Given the description of an element on the screen output the (x, y) to click on. 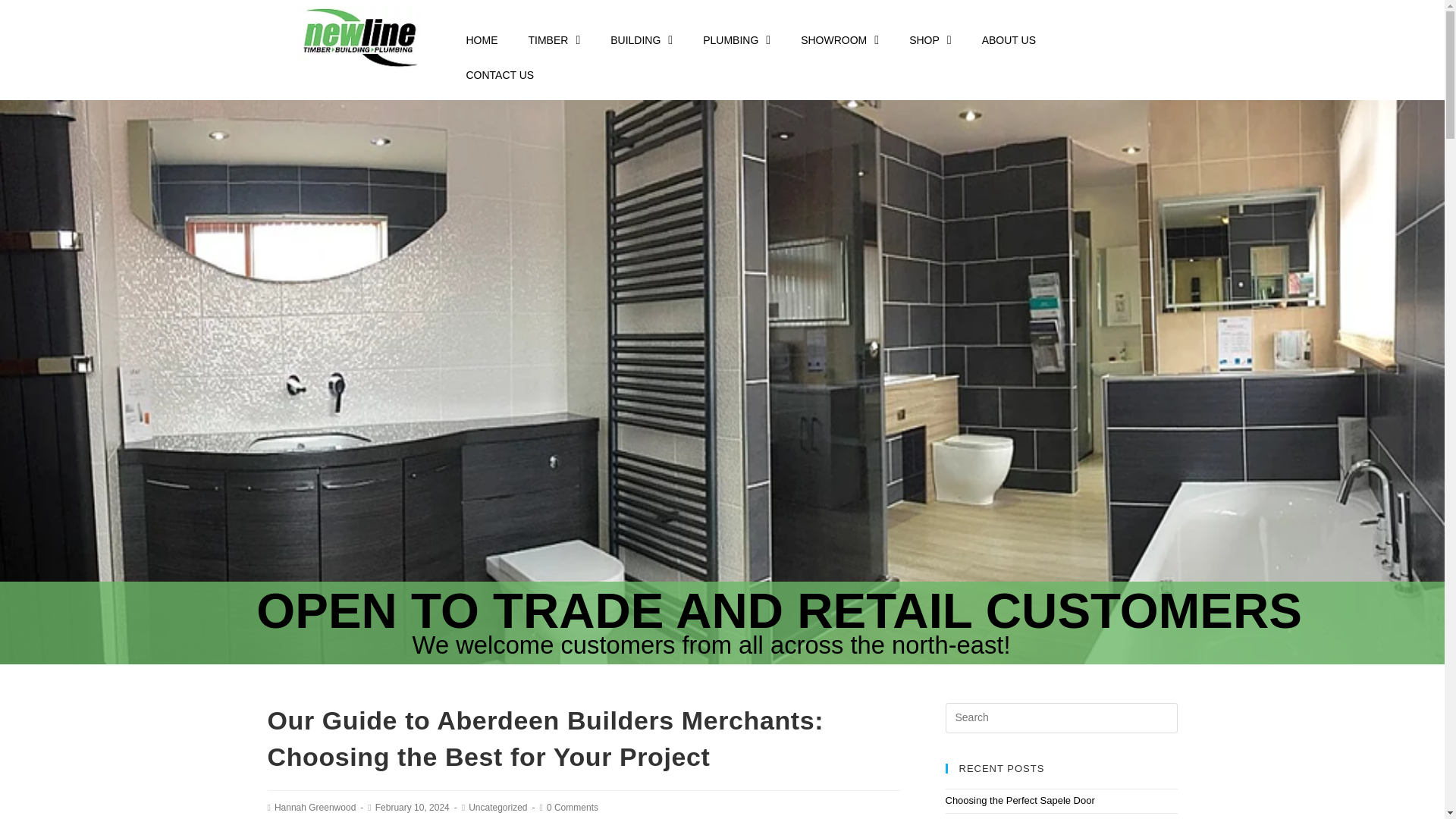
Posts by Hannah Greenwood (315, 807)
TIMBER (553, 39)
CONTACT US (498, 74)
ABOUT US (1008, 39)
SHOP (929, 39)
HOME (480, 39)
BUILDING (641, 39)
PLUMBING (736, 39)
SHOWROOM (839, 39)
